Given the description of an element on the screen output the (x, y) to click on. 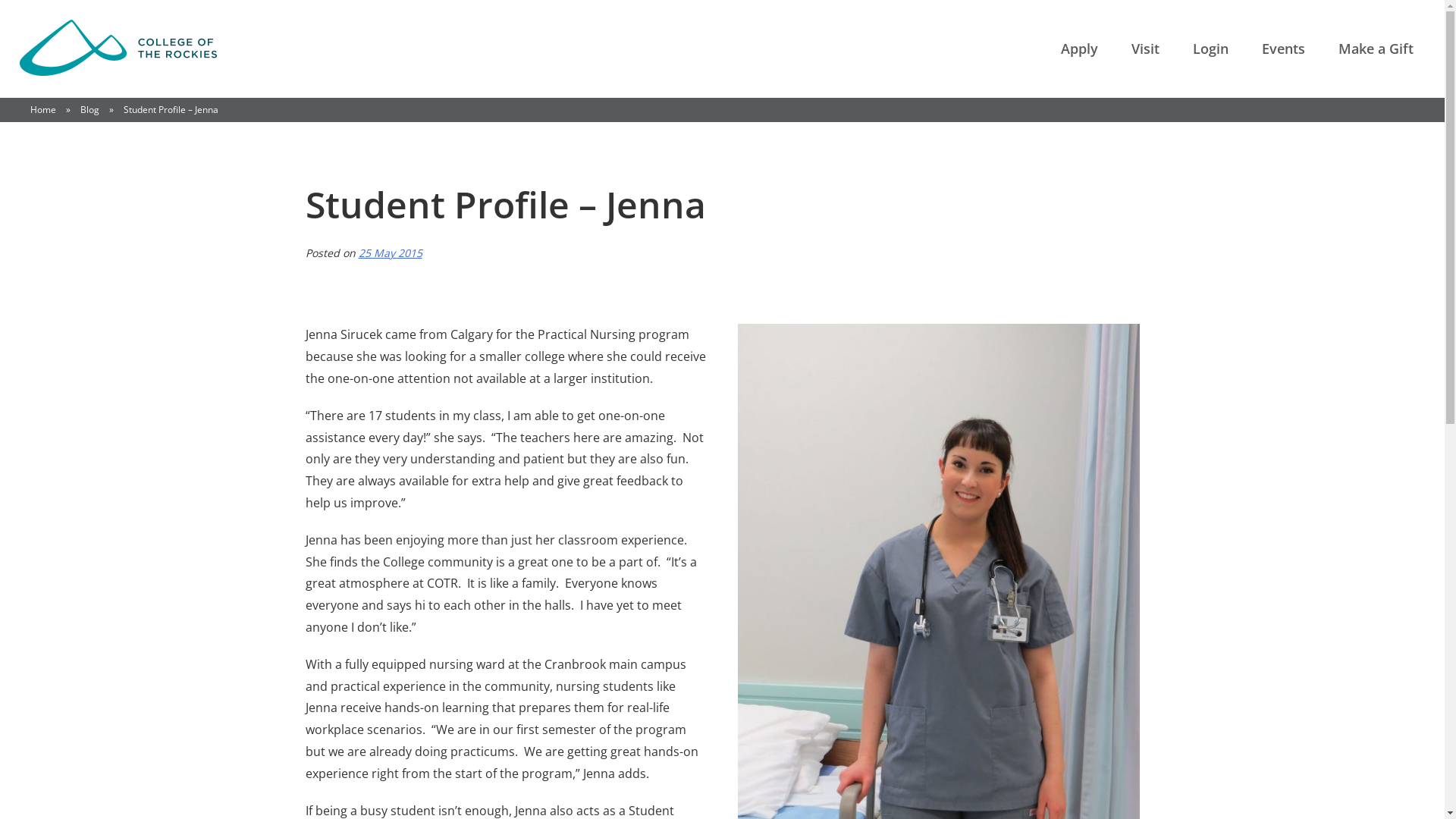
Login Element type: text (1210, 48)
College of the Rockies Element type: text (117, 48)
Blog Element type: text (89, 109)
Events Element type: text (1283, 48)
Apply Element type: text (1079, 48)
Visit Element type: text (1145, 48)
Make a Gift Element type: text (1375, 48)
25 May 2015 Element type: text (389, 252)
Home Element type: text (43, 109)
